Given the description of an element on the screen output the (x, y) to click on. 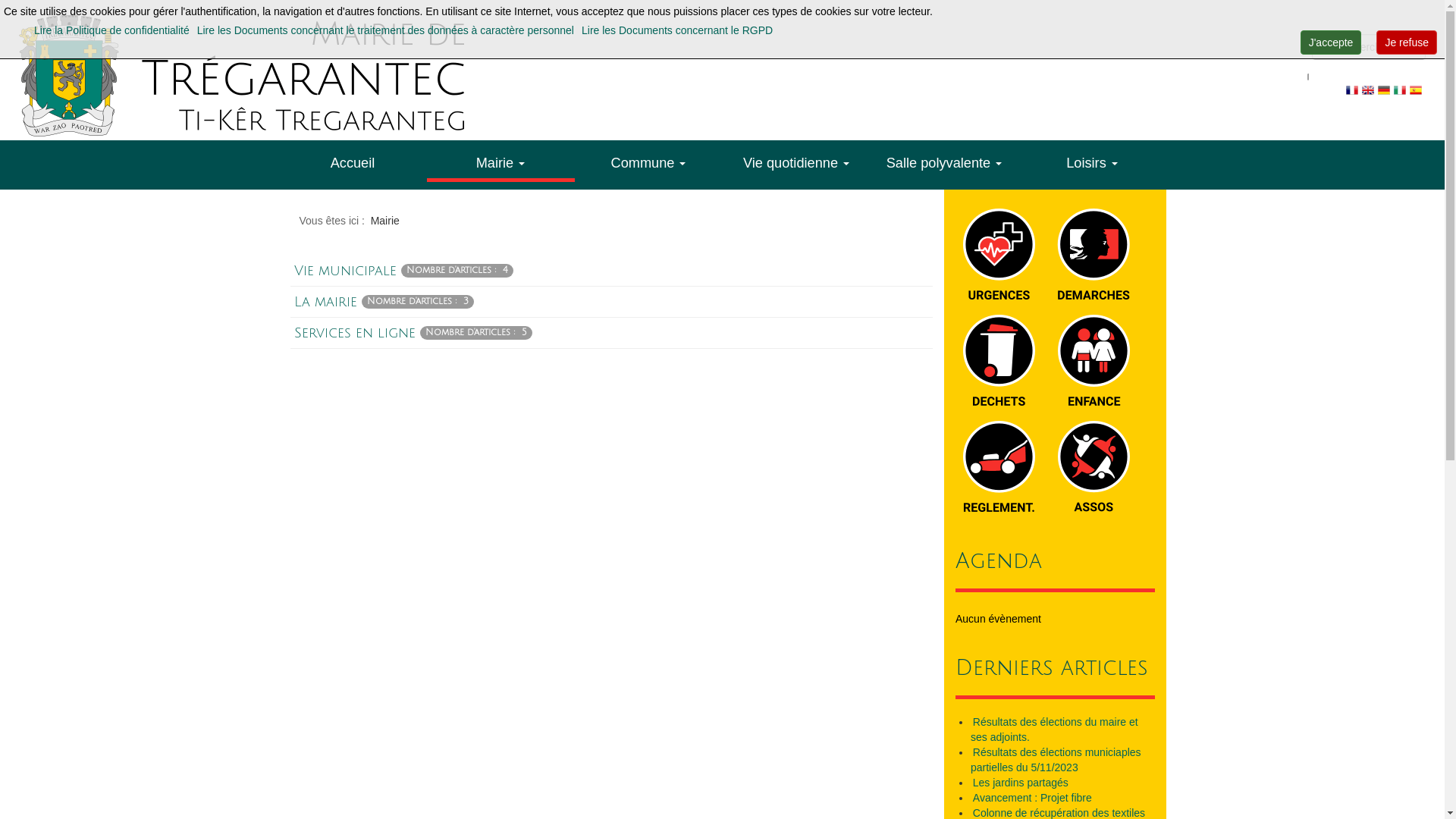
La mairie Element type: text (325, 301)
Services en ligne Element type: text (354, 332)
Vie municipale Element type: text (345, 270)
Nous contacter Element type: text (605, 691)
J'accepte Element type: text (1330, 42)
Loisirs Element type: text (1091, 159)
Associations Element type: text (1093, 465)
Mairie Element type: text (500, 161)
Enfance Element type: text (1093, 359)
Commune Element type: text (648, 159)
Vie quotidienne Element type: text (795, 159)
Lire les Documents concernant le RGPD Element type: text (676, 30)
Accueil Element type: text (352, 159)
Avancement : Projet fibre Element type: text (1032, 797)
Je refuse Element type: text (1406, 42)
Salle polyvalente Element type: text (944, 159)
